Given the description of an element on the screen output the (x, y) to click on. 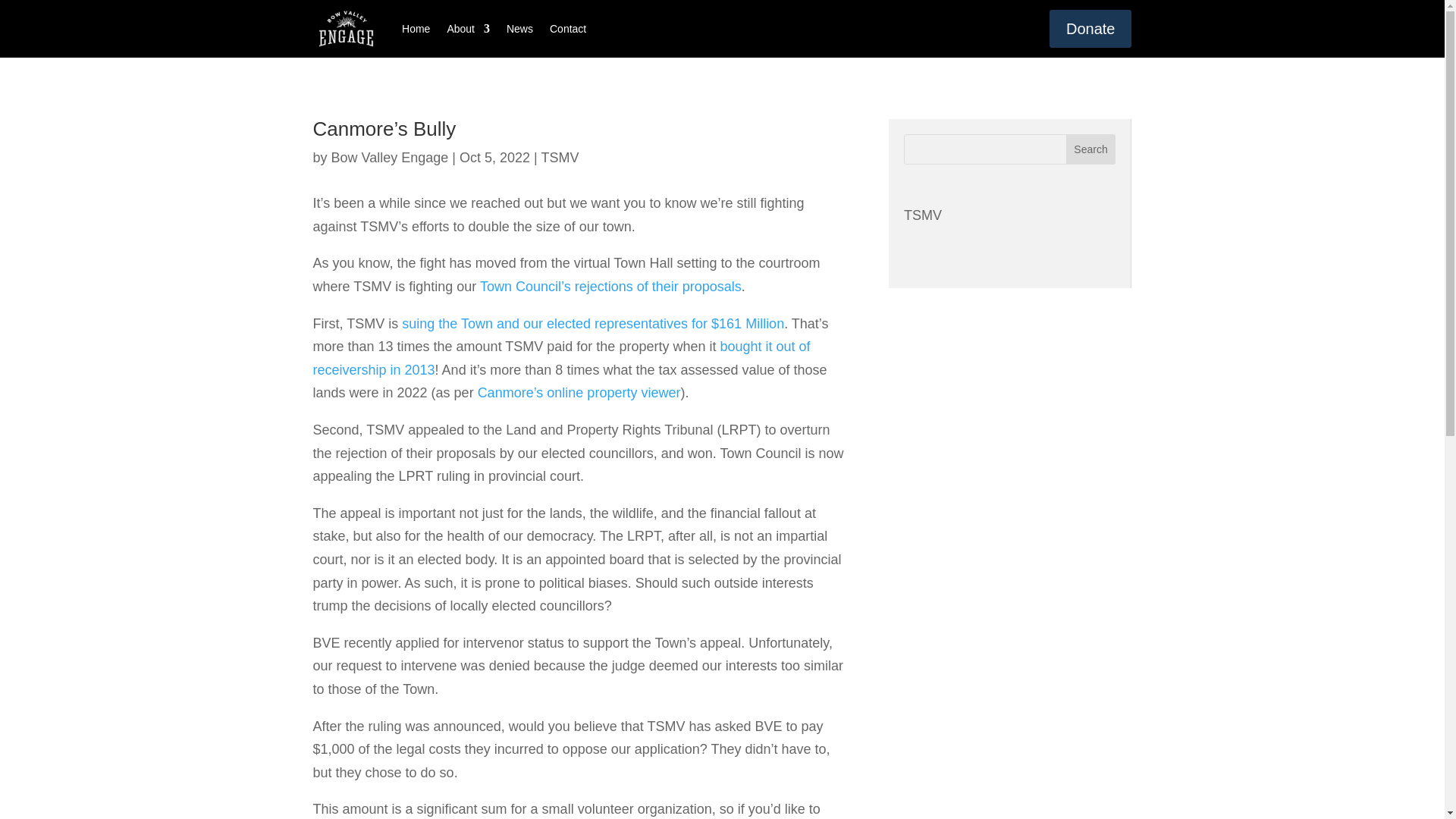
Posts by Bow Valley Engage (389, 157)
bought it out of receivership in 2013 (561, 358)
Donate (1090, 28)
TSMV (923, 215)
Search (1090, 149)
Bow Valley Engage (389, 157)
TSMV (559, 157)
